Given the description of an element on the screen output the (x, y) to click on. 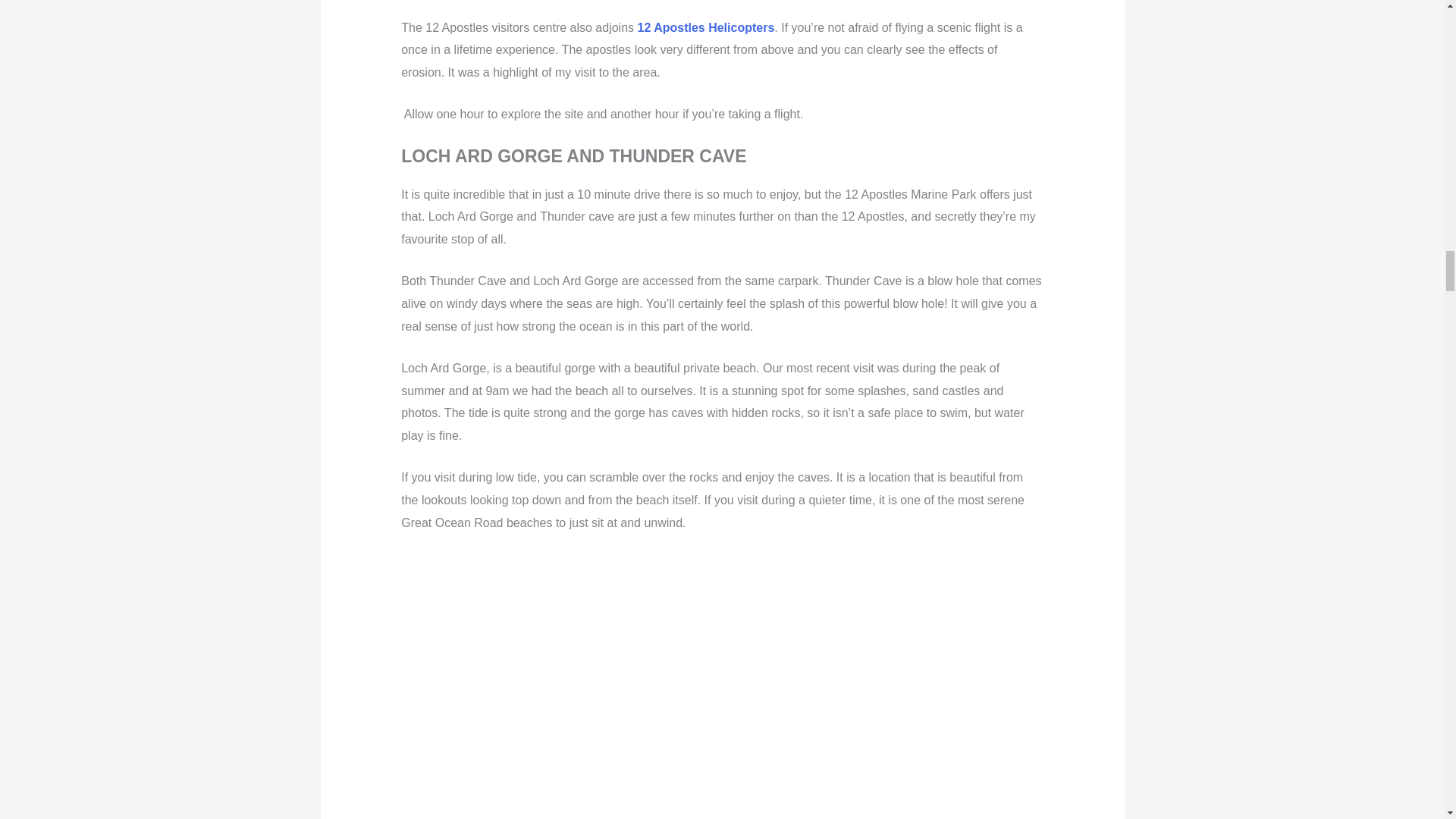
The Best Great Ocean Road Itinerary 6 (702, 727)
